Given the description of an element on the screen output the (x, y) to click on. 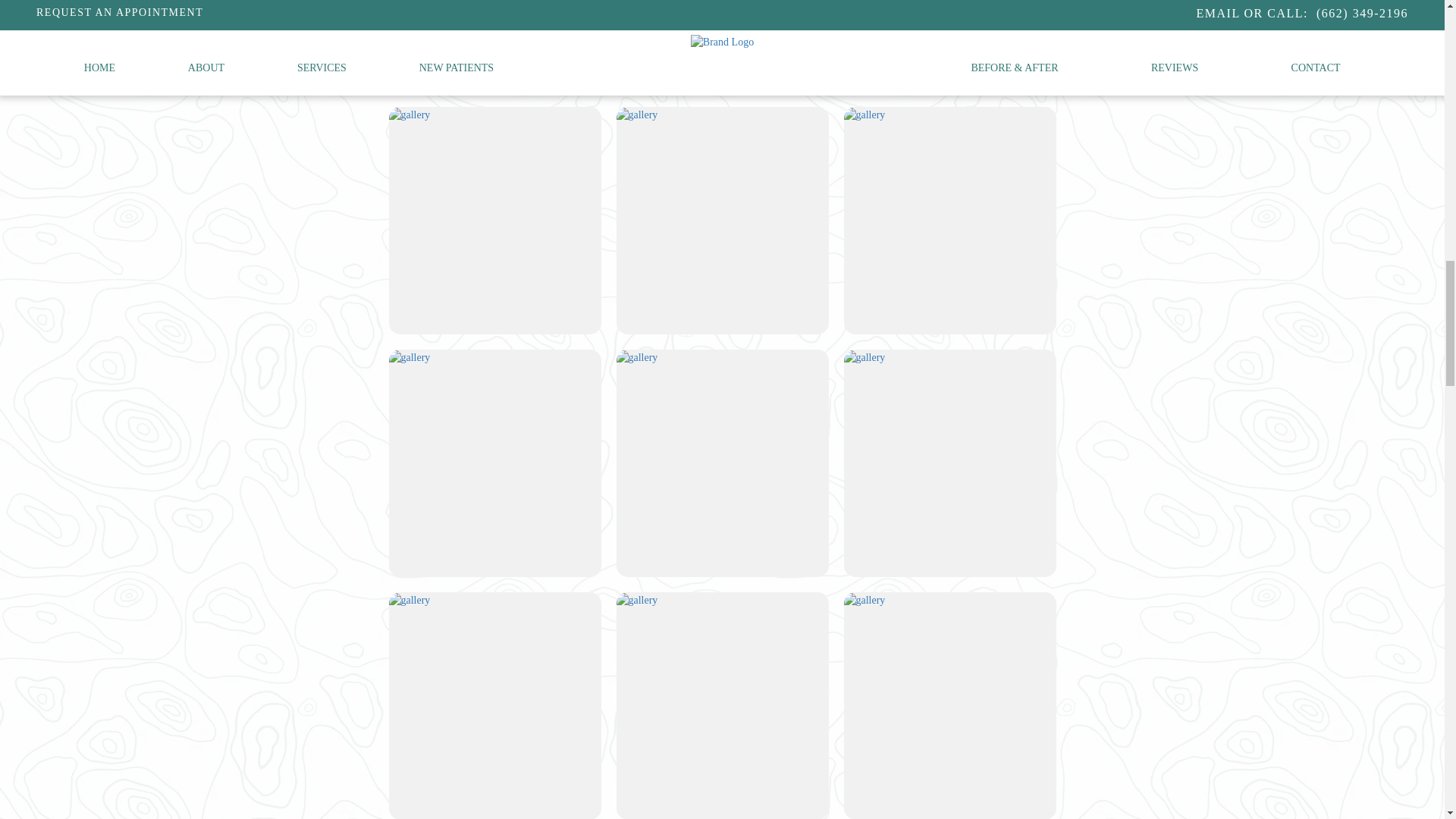
gallery (864, 357)
gallery (636, 357)
gallery (408, 114)
gallery (408, 600)
gallery (636, 114)
gallery (636, 600)
gallery (408, 357)
gallery (864, 114)
